Given the description of an element on the screen output the (x, y) to click on. 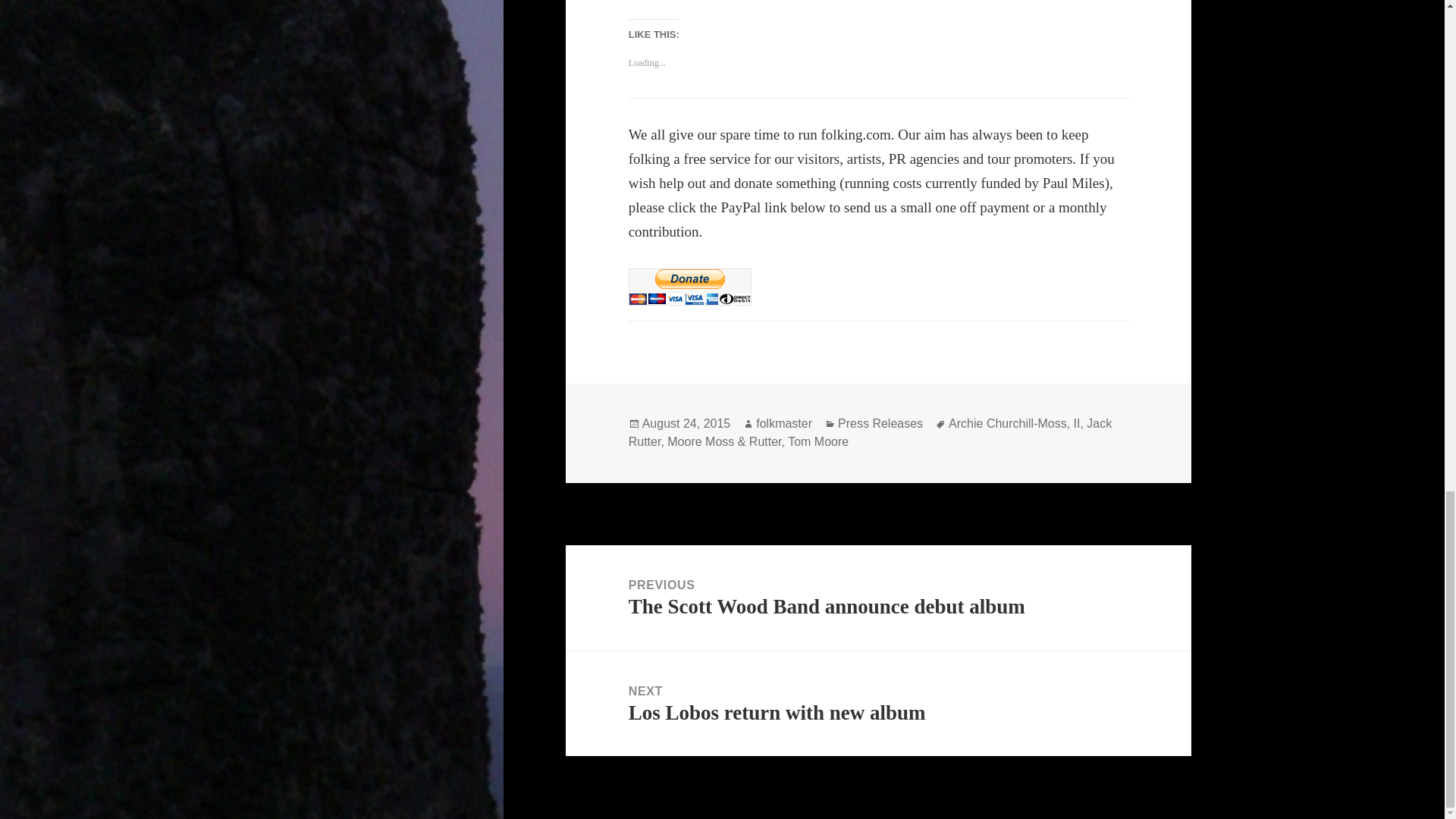
PayPal - The safer, easier way to pay online! (689, 286)
August 24, 2015 (686, 423)
Archie Churchill-Moss (1008, 423)
Tom Moore (817, 441)
II (878, 703)
folkmaster (1077, 423)
Jack Rutter (783, 423)
Press Releases (870, 432)
